Given the description of an element on the screen output the (x, y) to click on. 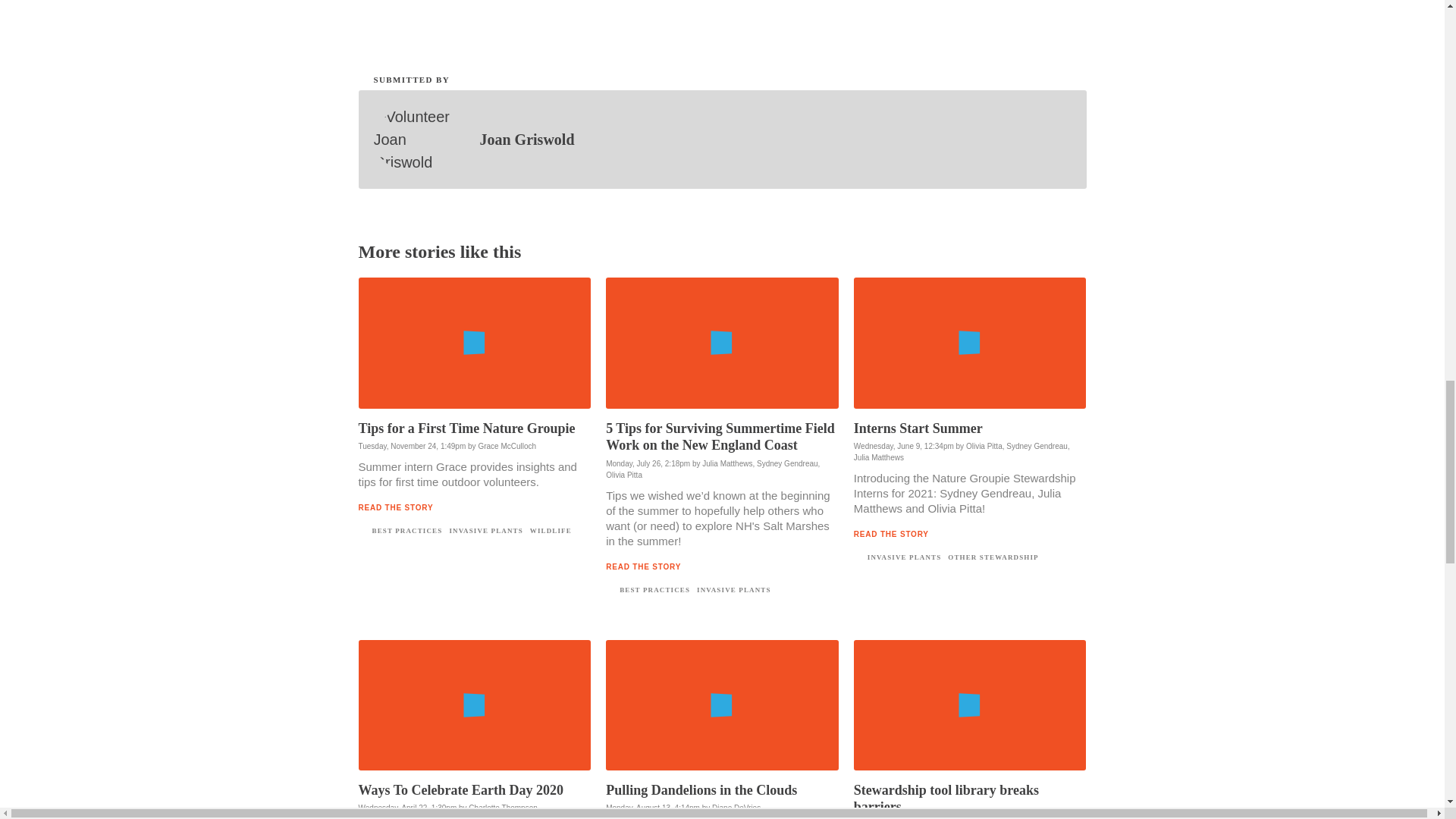
Facebook (402, 17)
Tips for a First Time Nature Groupie (466, 427)
Interns Start Summer (917, 427)
OTHER STEWARDSHIP (992, 557)
Sydney Gendreau (1036, 446)
INVASIVE PLANTS (903, 557)
Sydney Gendreau (787, 463)
INVASIVE PLANTS (485, 530)
Julia Matthews (878, 457)
READ THE STORY (395, 507)
BEST PRACTICES (406, 530)
INVASIVE PLANTS (733, 590)
Olivia Pitta (984, 446)
Olivia Pitta (623, 474)
